Given the description of an element on the screen output the (x, y) to click on. 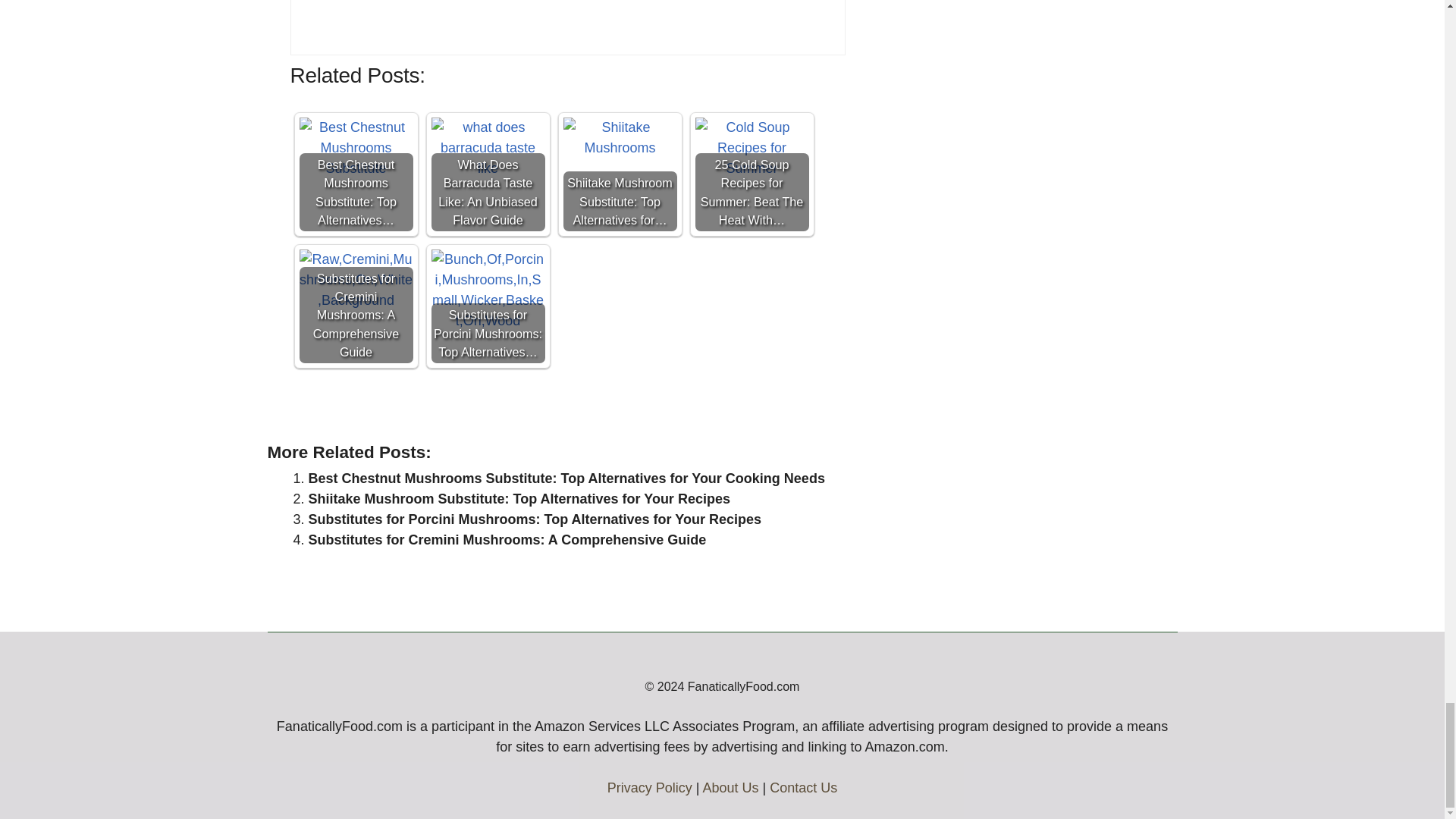
Substitutes for Cremini Mushrooms: A Comprehensive Guide (355, 306)
What Does Barracuda Taste Like: An Unbiased Flavor Guide (487, 173)
